Given the description of an element on the screen output the (x, y) to click on. 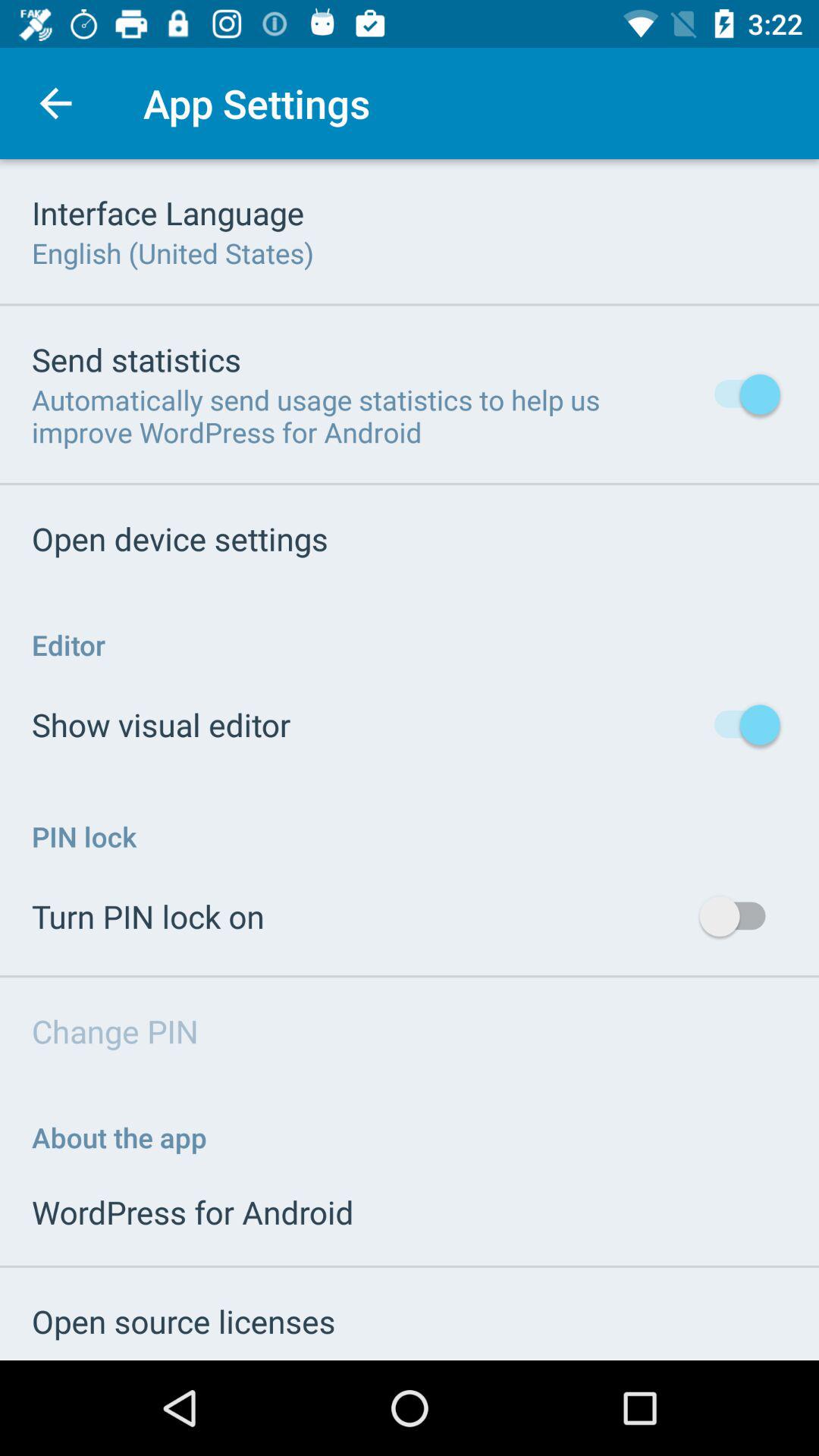
toggle visual editor and pin lock (409, 759)
